Given the description of an element on the screen output the (x, y) to click on. 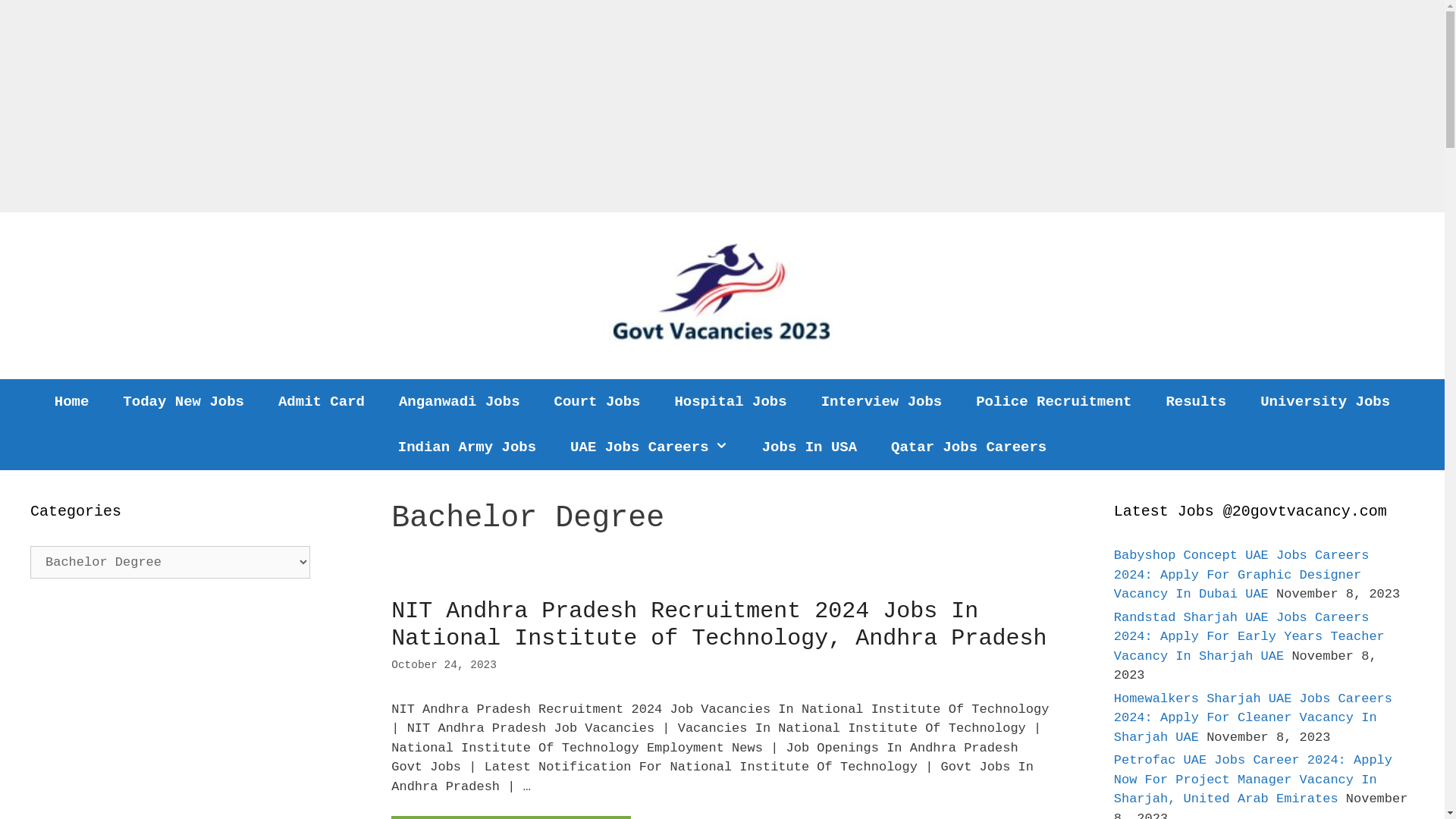
Interview Jobs Element type: text (881, 401)
Advertisement Element type: hover (455, 106)
Qatar Jobs Careers Element type: text (968, 447)
Court Jobs Element type: text (596, 401)
University Jobs Element type: text (1325, 401)
Home Element type: text (71, 401)
Jobs In USA Element type: text (809, 447)
Hospital Jobs Element type: text (729, 401)
Results Element type: text (1195, 401)
Admit Card Element type: text (321, 401)
UAE Jobs Careers Element type: text (649, 447)
Today New Jobs Element type: text (183, 401)
Anganwadi Jobs Element type: text (459, 401)
Police Recruitment Element type: text (1053, 401)
Indian Army Jobs Element type: text (466, 447)
